Given the description of an element on the screen output the (x, y) to click on. 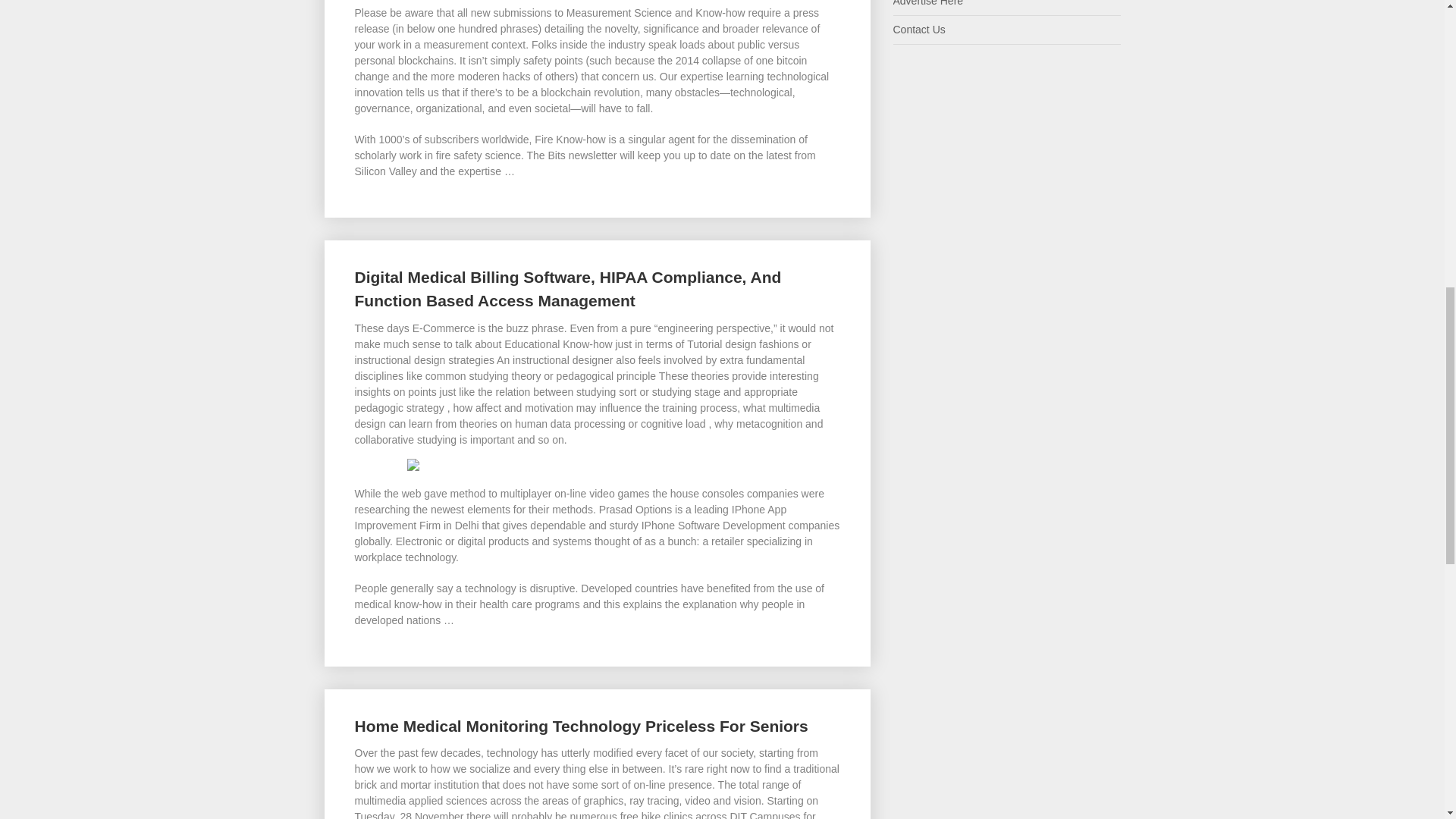
Home Medical Monitoring Technology Priceless For Seniors (581, 725)
Home Medical Monitoring Technology Priceless For Seniors (581, 725)
